Given the description of an element on the screen output the (x, y) to click on. 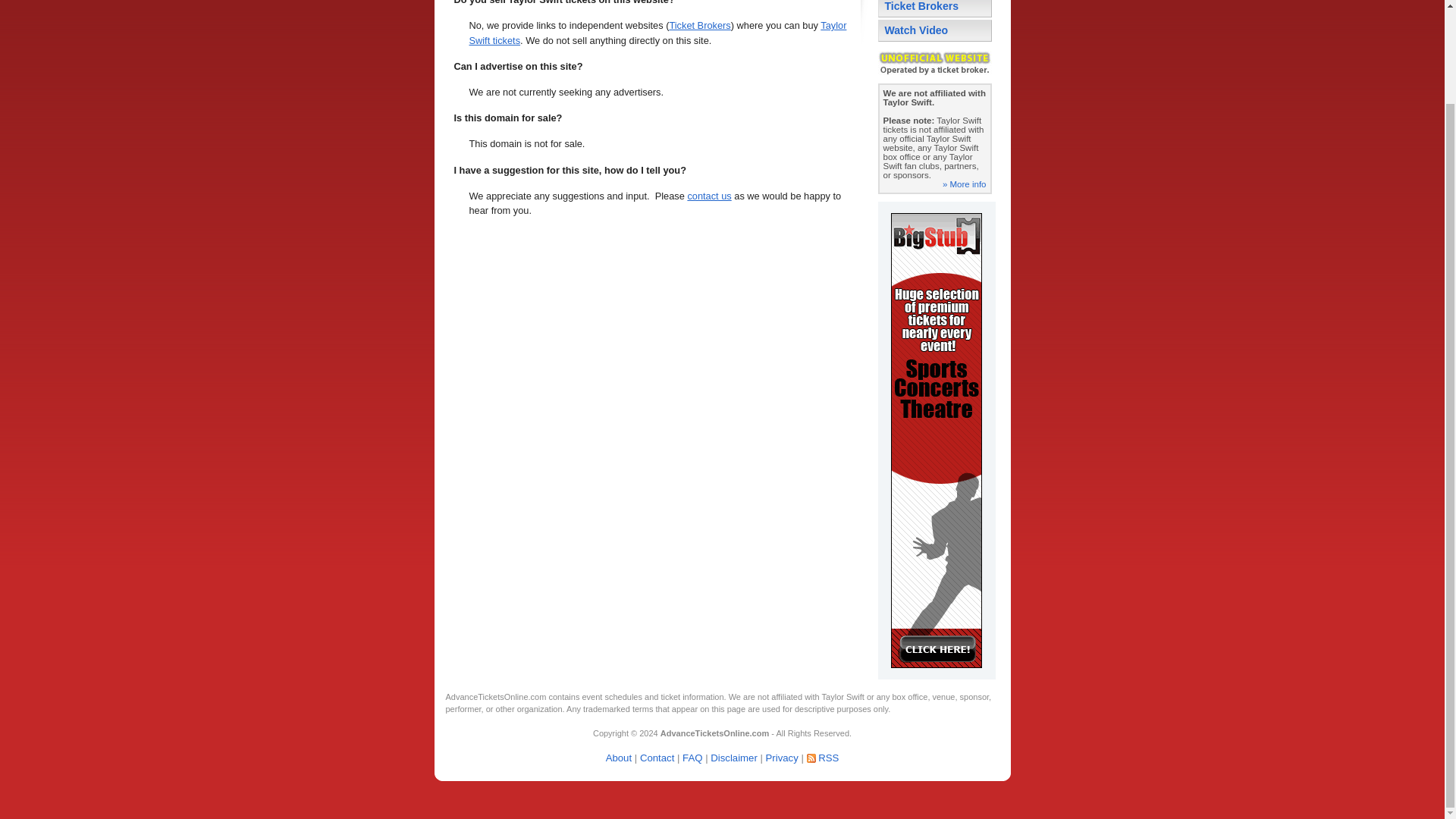
contact us (708, 195)
Ticket Brokers (934, 8)
FAQ (691, 757)
Disclaimer (733, 757)
About (618, 757)
RSS (828, 757)
Ticket Brokers (699, 25)
AdvanceTicketsOnline.com (496, 696)
Contact (657, 757)
AdvanceTicketsOnline.com (714, 732)
Taylor Swift tickets (656, 32)
Watch Video (934, 30)
Privacy (781, 757)
